Given the description of an element on the screen output the (x, y) to click on. 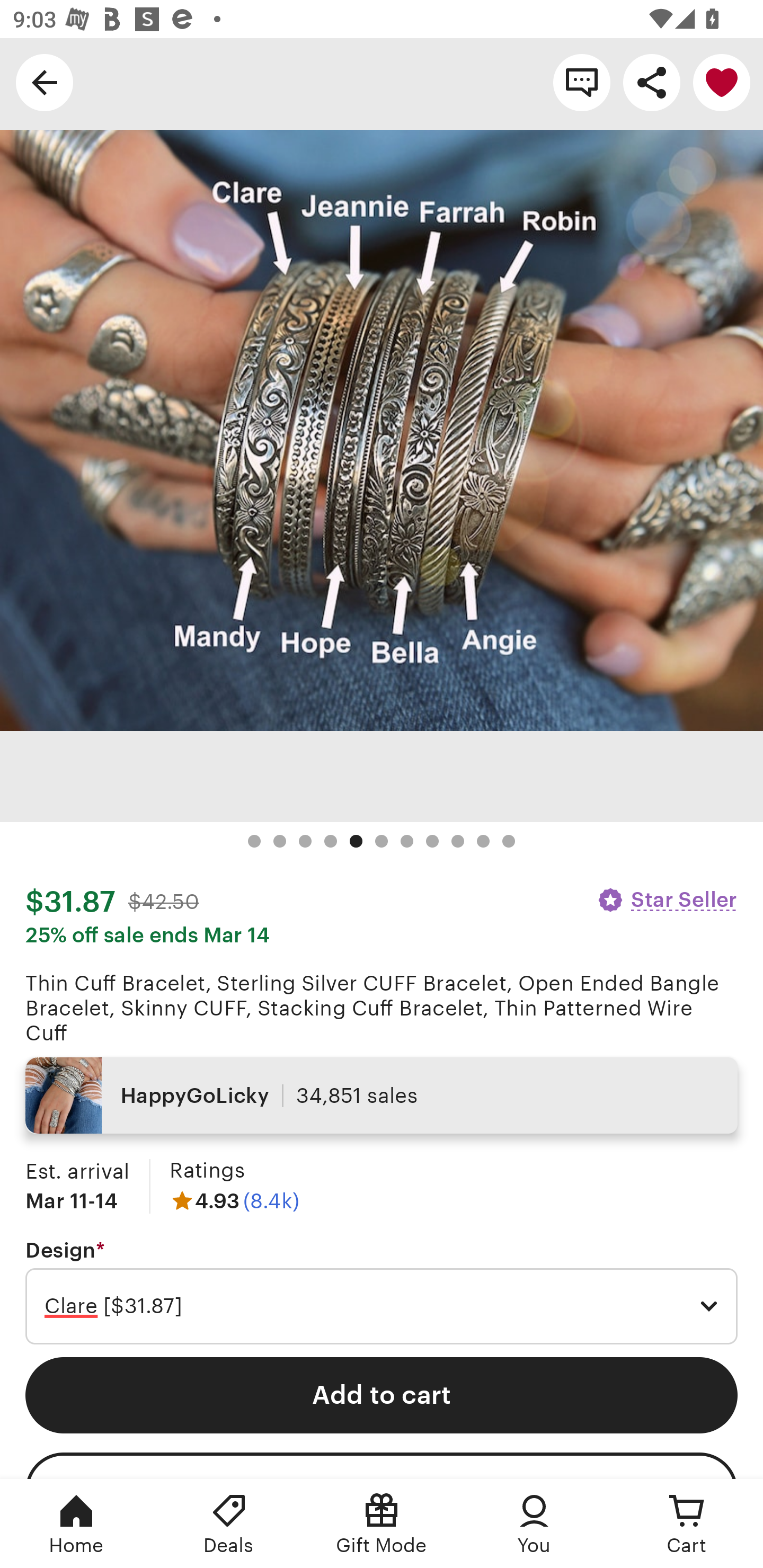
Navigate up (44, 81)
Contact shop (581, 81)
Share (651, 81)
Star Seller (666, 899)
HappyGoLicky 34,851 sales (381, 1094)
Ratings (206, 1170)
4.93 (8.4k) (234, 1200)
Design * Required Clare [$31.87] (381, 1290)
Clare [$31.87] (381, 1305)
Add to cart (381, 1395)
Deals (228, 1523)
Gift Mode (381, 1523)
You (533, 1523)
Cart (686, 1523)
